Given the description of an element on the screen output the (x, y) to click on. 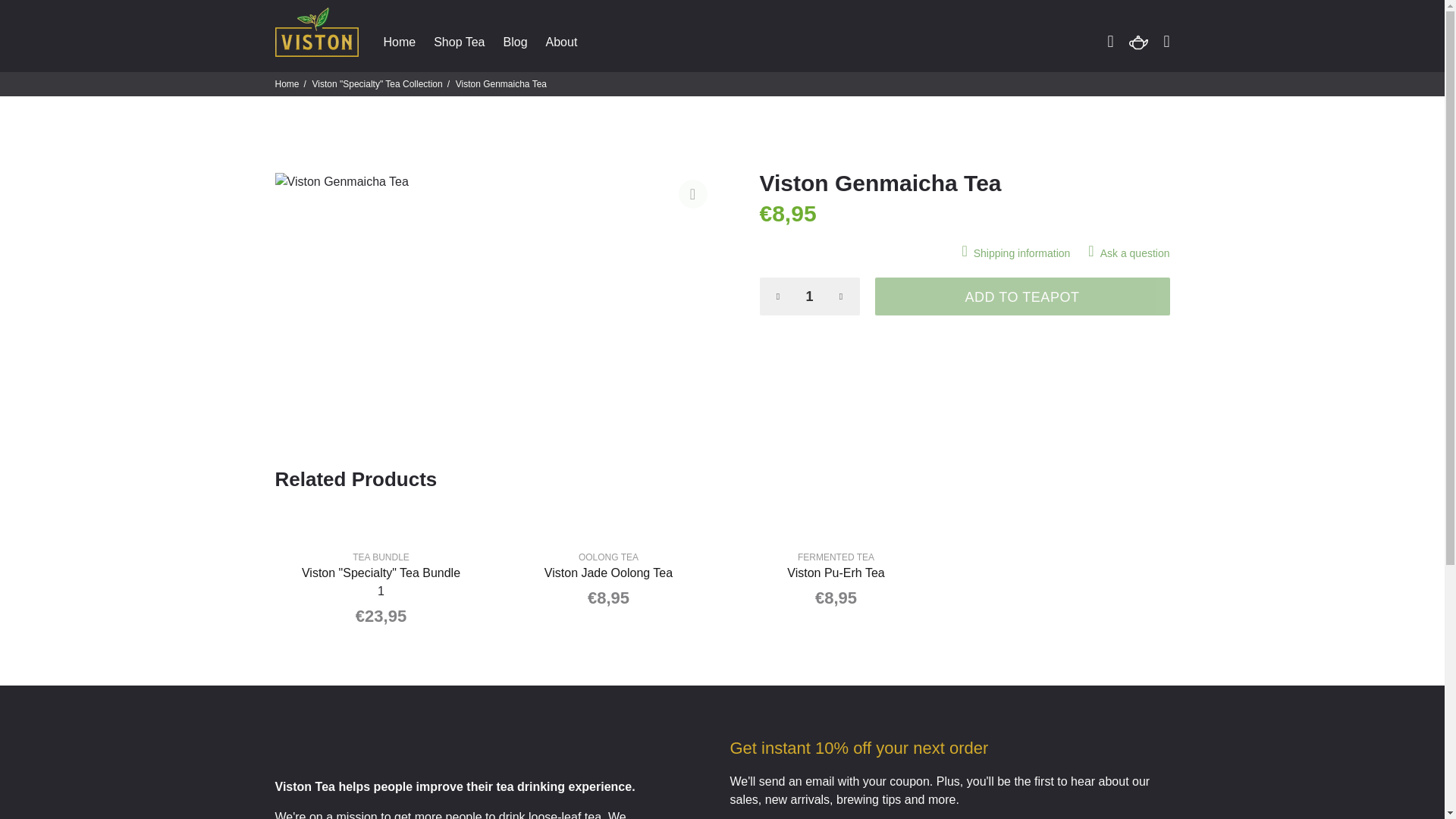
About (557, 42)
Viston "Specialty" Tea Collection (377, 83)
Blog (516, 42)
Shop Tea (459, 42)
Shipping information (1019, 253)
ADD TO TEAPOT (1022, 296)
1 (810, 296)
Ask a question (1123, 253)
Home (399, 42)
Home (286, 83)
